Given the description of an element on the screen output the (x, y) to click on. 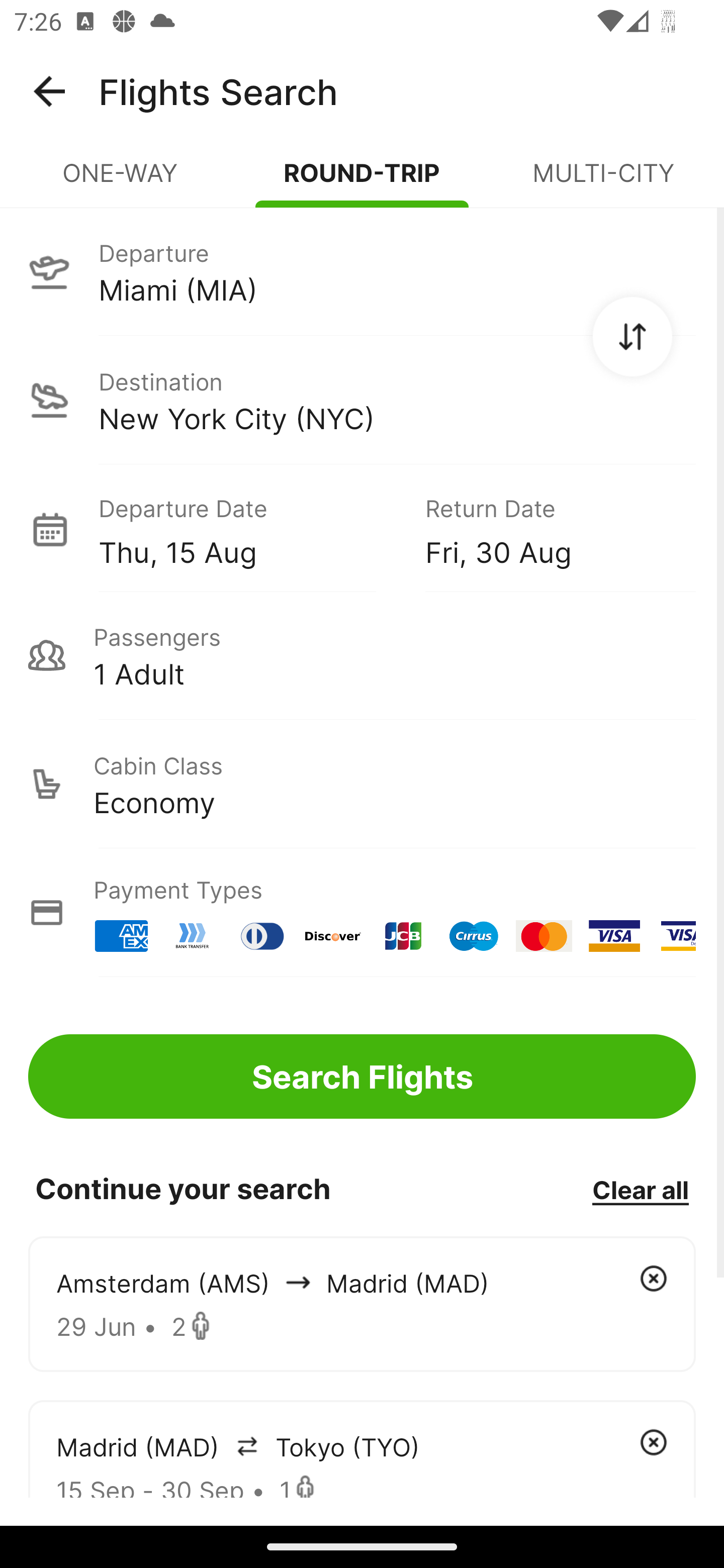
ONE-WAY (120, 180)
ROUND-TRIP (361, 180)
MULTI-CITY (603, 180)
Departure Miami (MIA) (362, 270)
Destination New York City (NYC) (362, 400)
Departure Date Thu, 15 Aug (247, 528)
Return Date Fri, 30 Aug (546, 528)
Passengers 1 Adult (362, 655)
Cabin Class Economy (362, 783)
Payment Types (362, 912)
Search Flights (361, 1075)
Clear all (640, 1189)
